Given the description of an element on the screen output the (x, y) to click on. 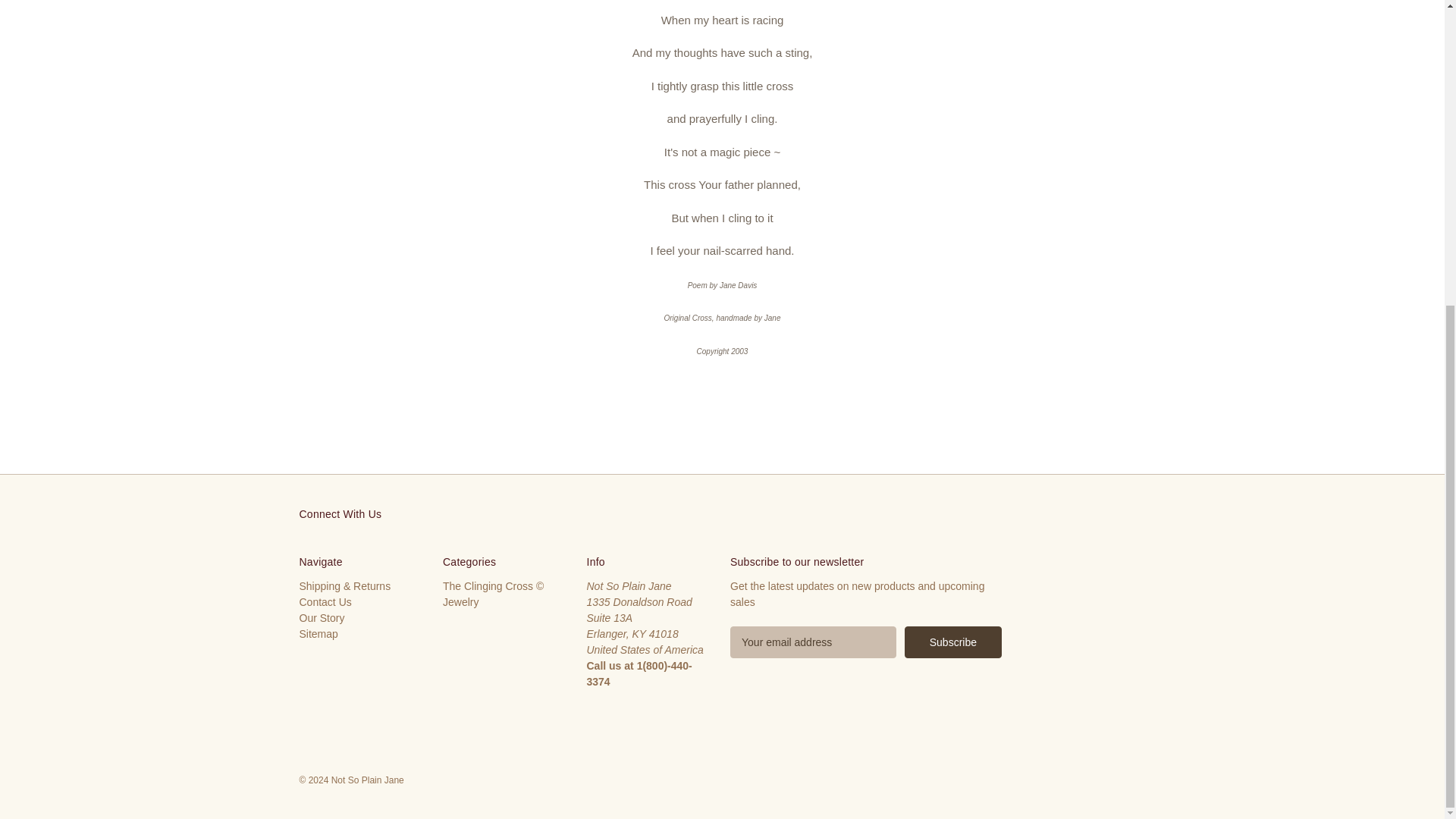
Sitemap (317, 633)
Subscribe (952, 642)
Subscribe (952, 642)
Our Story (320, 617)
Jewelry (460, 602)
Contact Us (324, 602)
